Given the description of an element on the screen output the (x, y) to click on. 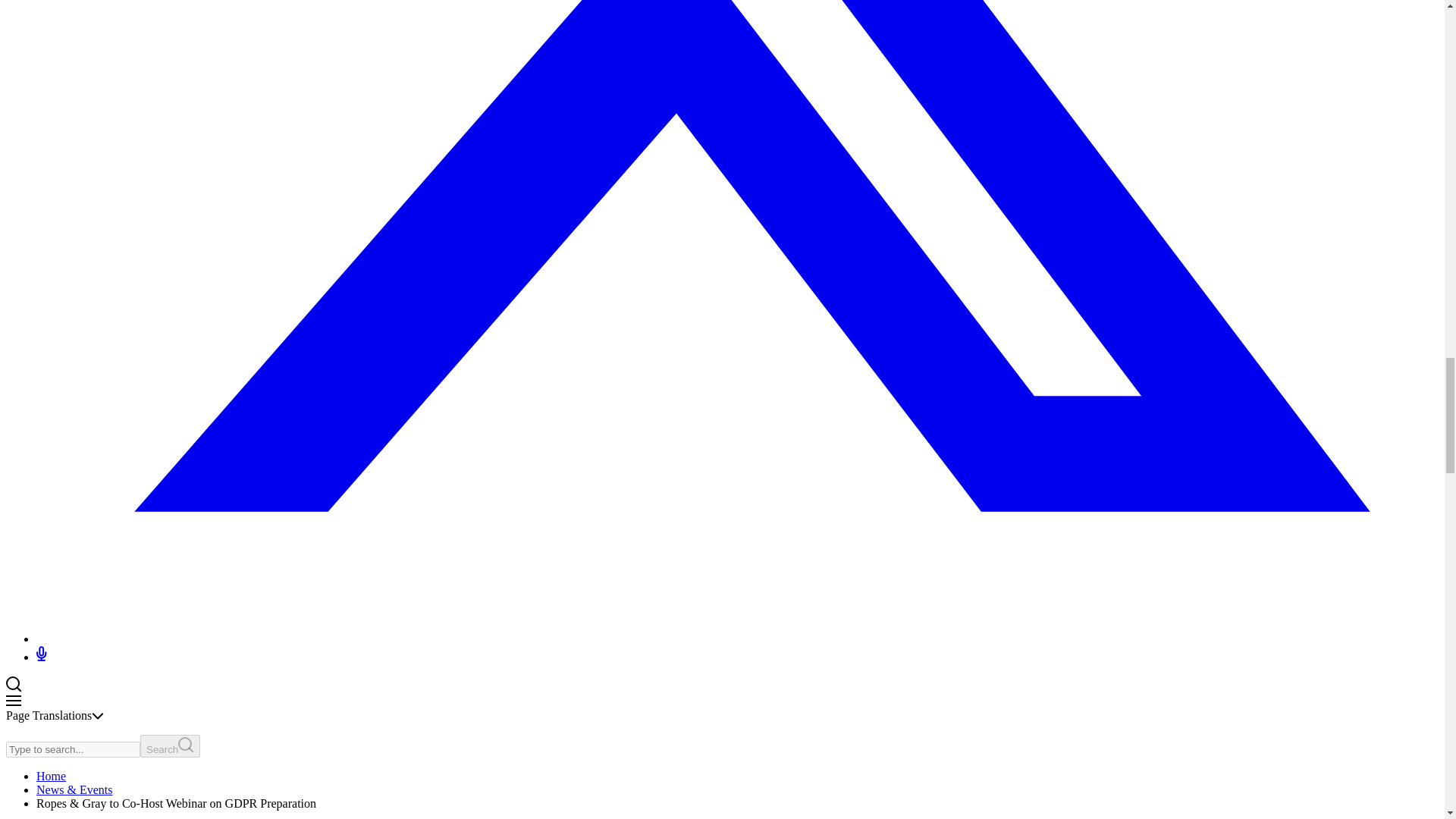
Search (169, 745)
Page Translations (54, 715)
Home (50, 775)
